Given the description of an element on the screen output the (x, y) to click on. 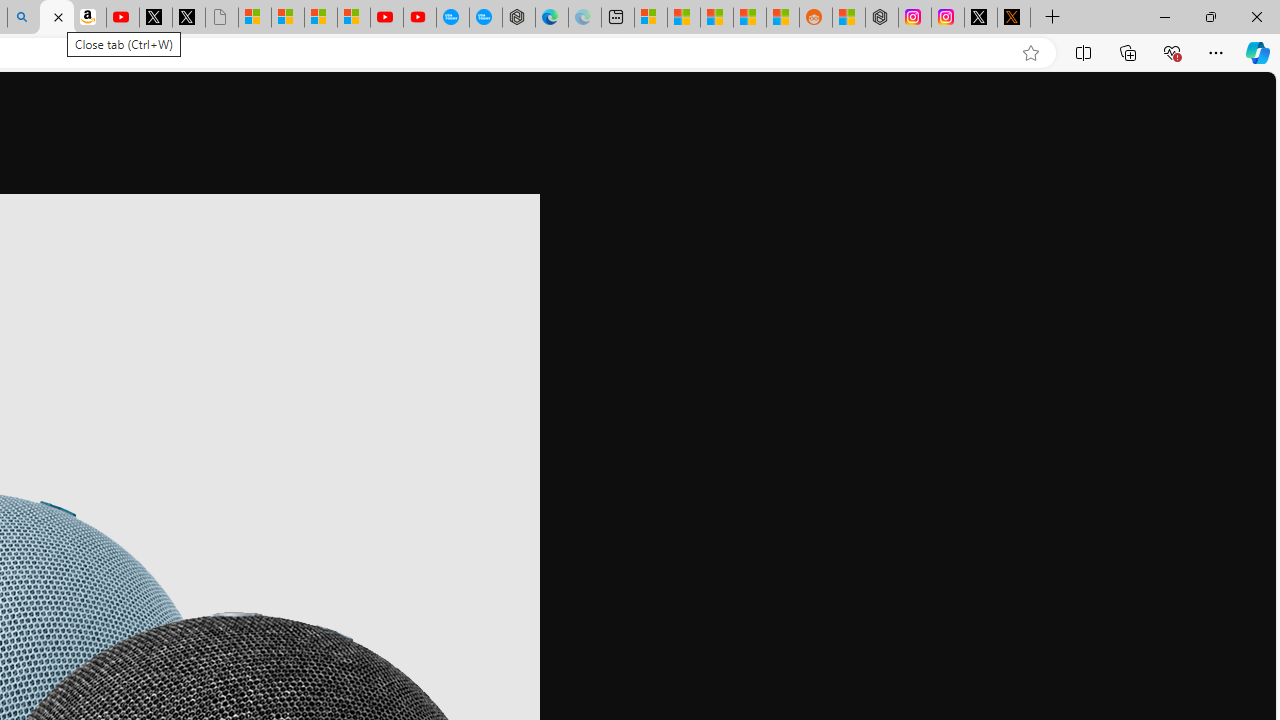
The most popular Google 'how to' searches (485, 17)
YouTube Kids - An App Created for Kids to Explore Content (420, 17)
